Given the description of an element on the screen output the (x, y) to click on. 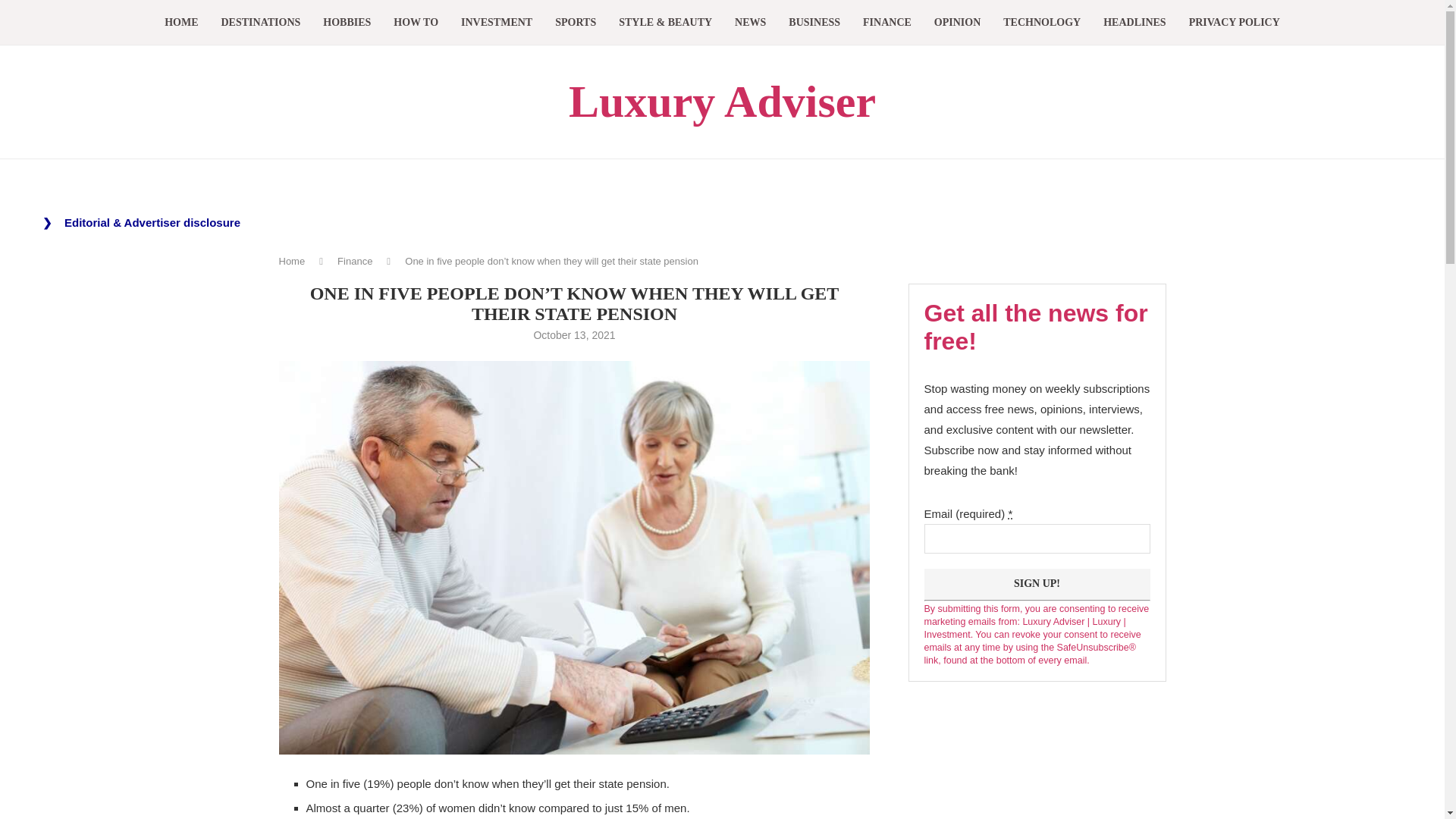
DESTINATIONS (261, 22)
Luxury Adviser (722, 101)
Finance (354, 260)
HEADLINES (1134, 22)
Sign up! (1036, 583)
BUSINESS (814, 22)
Home (292, 260)
TECHNOLOGY (1041, 22)
SPORTS (574, 22)
FINANCE (887, 22)
INVESTMENT (496, 22)
HOBBIES (347, 22)
PRIVACY POLICY (1234, 22)
OPINION (956, 22)
